Given the description of an element on the screen output the (x, y) to click on. 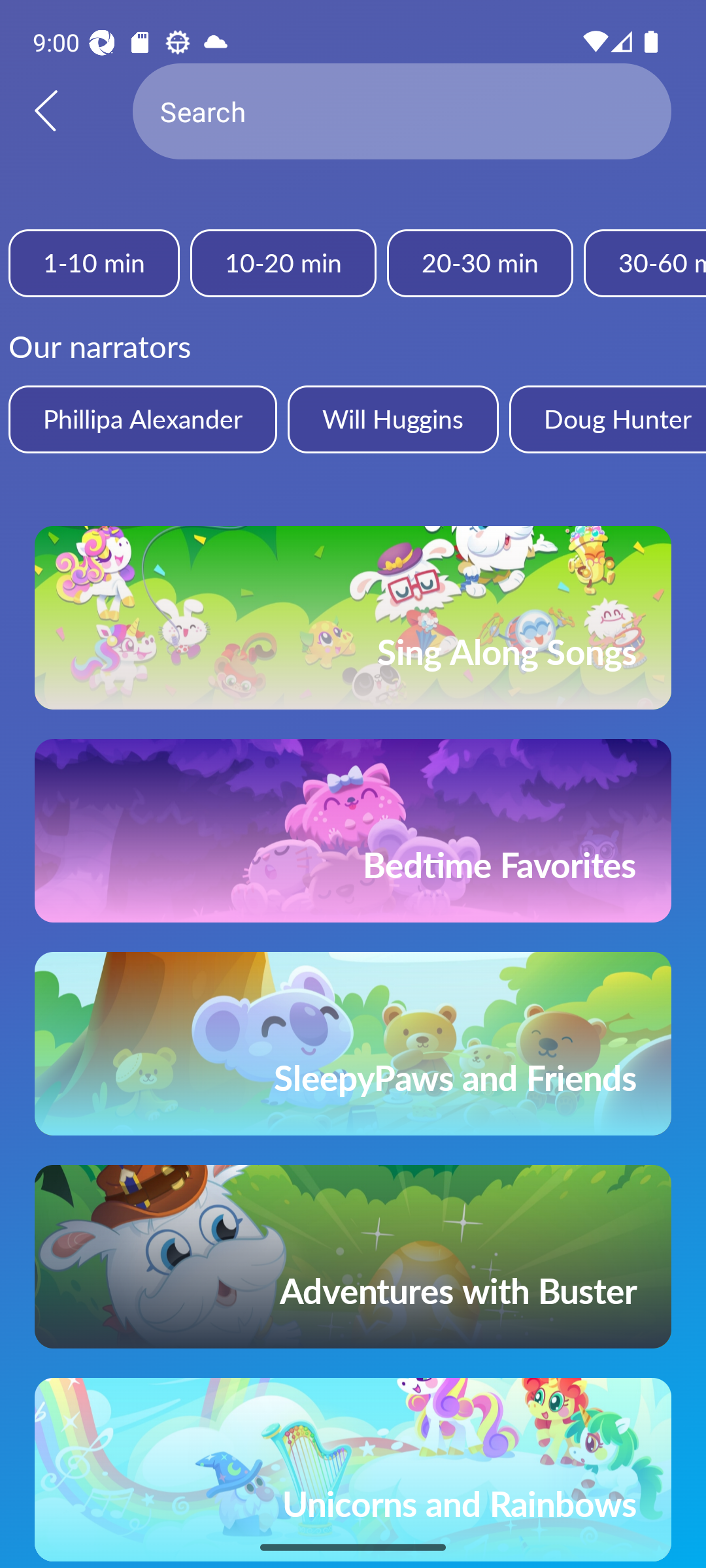
Search (401, 110)
1-10 min (94, 262)
10-20 min (282, 262)
20-30 min (479, 262)
30-60 min (644, 262)
Phillipa Alexander (142, 419)
Will Huggins (392, 419)
Doug Hunter (607, 419)
Sing Along Songs (352, 616)
Bedtime Favorites (352, 829)
SleepyPaws and Friends (352, 1043)
Adventures with Buster (352, 1256)
Unicorns and Rainbows (352, 1469)
